Given the description of an element on the screen output the (x, y) to click on. 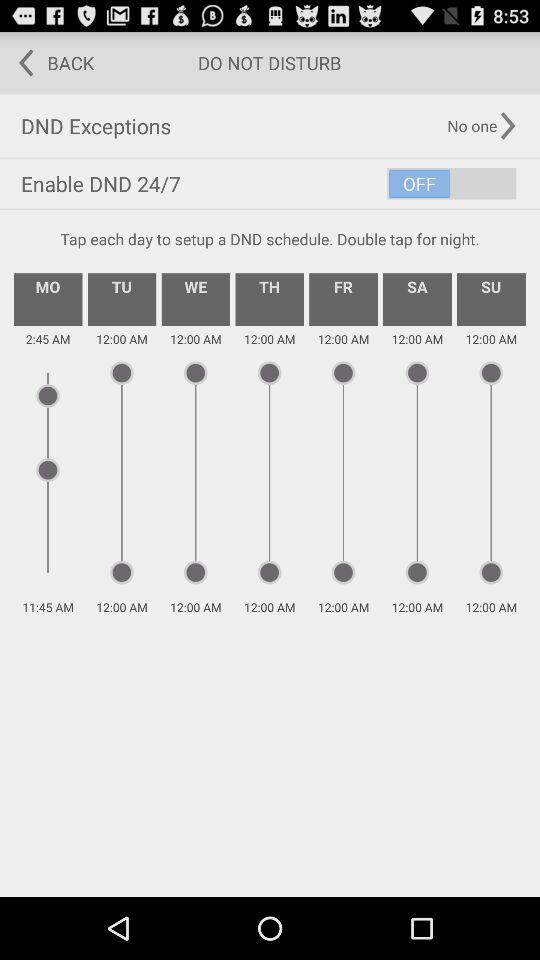
tap app next to 12:00 am (47, 299)
